Given the description of an element on the screen output the (x, y) to click on. 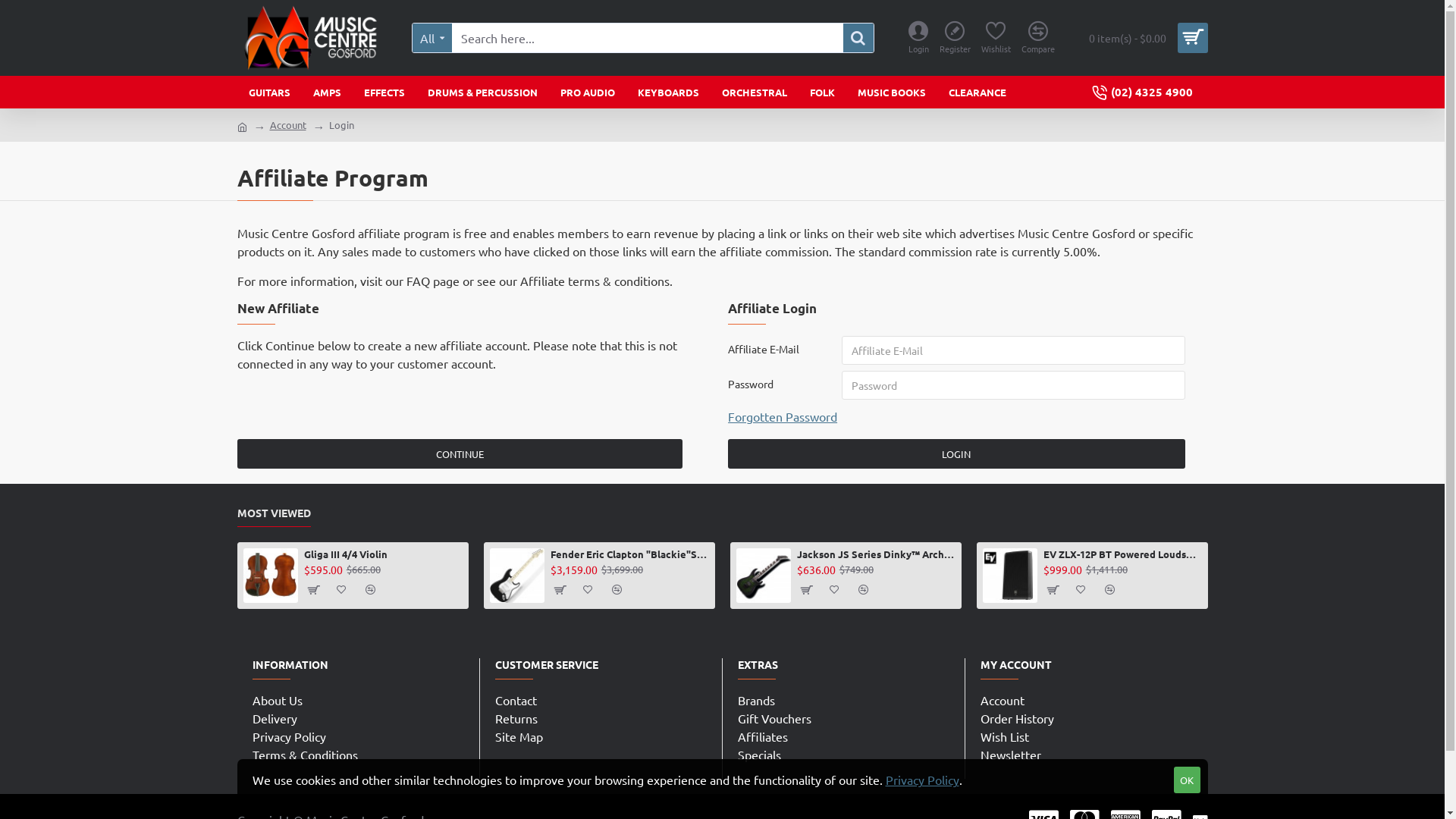
Delivery Element type: text (273, 718)
ORCHESTRAL Element type: text (753, 91)
LOGIN Element type: text (956, 453)
MUSIC BOOKS Element type: text (891, 91)
About Us Element type: text (276, 699)
Gliga III 4/4 Violin Element type: text (383, 554)
MOST VIEWED Element type: text (273, 516)
Compare Element type: text (1037, 38)
CLEARANCE Element type: text (977, 91)
Affiliates Element type: text (762, 736)
OK Element type: text (1186, 779)
Specials Element type: text (758, 754)
Forgotten Password Element type: text (782, 416)
EFFECTS Element type: text (383, 91)
Account Element type: text (287, 124)
Returns Element type: text (515, 718)
Gift Vouchers Element type: text (773, 718)
FOLK Element type: text (821, 91)
Order History Element type: text (1016, 718)
Account Element type: text (1001, 699)
AMPS Element type: text (326, 91)
0 item(s) - $0.00 Element type: text (1141, 37)
KEYBOARDS Element type: text (668, 91)
CONTINUE Element type: text (459, 453)
GUITARS Element type: text (268, 91)
Brands Element type: text (755, 699)
EV ZLX-12P BT Powered Loudspeaker Element type: text (1122, 554)
(02) 4325 4900 Element type: text (1143, 91)
Login Element type: text (341, 124)
Music Centre Gosford Element type: hover (314, 37)
Site Map Element type: text (518, 736)
Login Element type: text (917, 38)
Wishlist Element type: text (994, 38)
Wish List Element type: text (1003, 736)
PRO AUDIO Element type: text (587, 91)
Gliga III 4/4 Violin Element type: hover (269, 575)
EV ZLX-12P BT Powered Loudspeaker Element type: hover (1009, 575)
Privacy Policy Element type: text (922, 779)
DRUMS & PERCUSSION Element type: text (481, 91)
Contact Element type: text (515, 699)
Terms & Conditions Element type: text (304, 754)
Register Element type: text (954, 38)
Fender Eric Clapton "Blackie"Signature Stratocaster Element type: hover (516, 575)
Newsletter Element type: text (1009, 754)
Privacy Policy Element type: text (288, 736)
Fender Eric Clapton "Blackie"Signature Stratocaster Element type: text (629, 554)
